Given the description of an element on the screen output the (x, y) to click on. 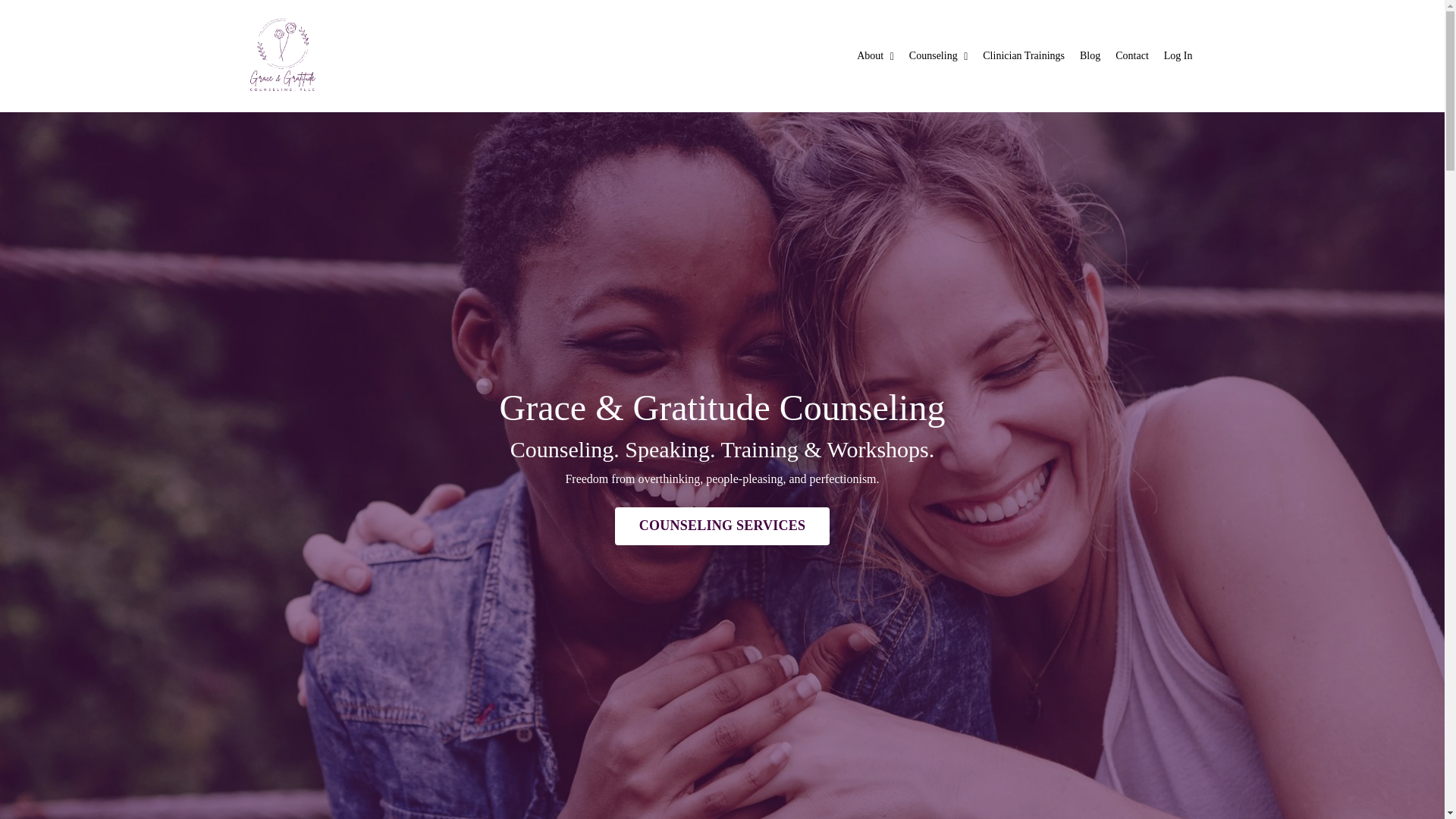
Clinician Trainings (1023, 55)
Counseling (938, 55)
COUNSELING SERVICES (721, 525)
About (875, 55)
Log In (1177, 55)
Contact (1131, 55)
Blog (1090, 55)
